Given the description of an element on the screen output the (x, y) to click on. 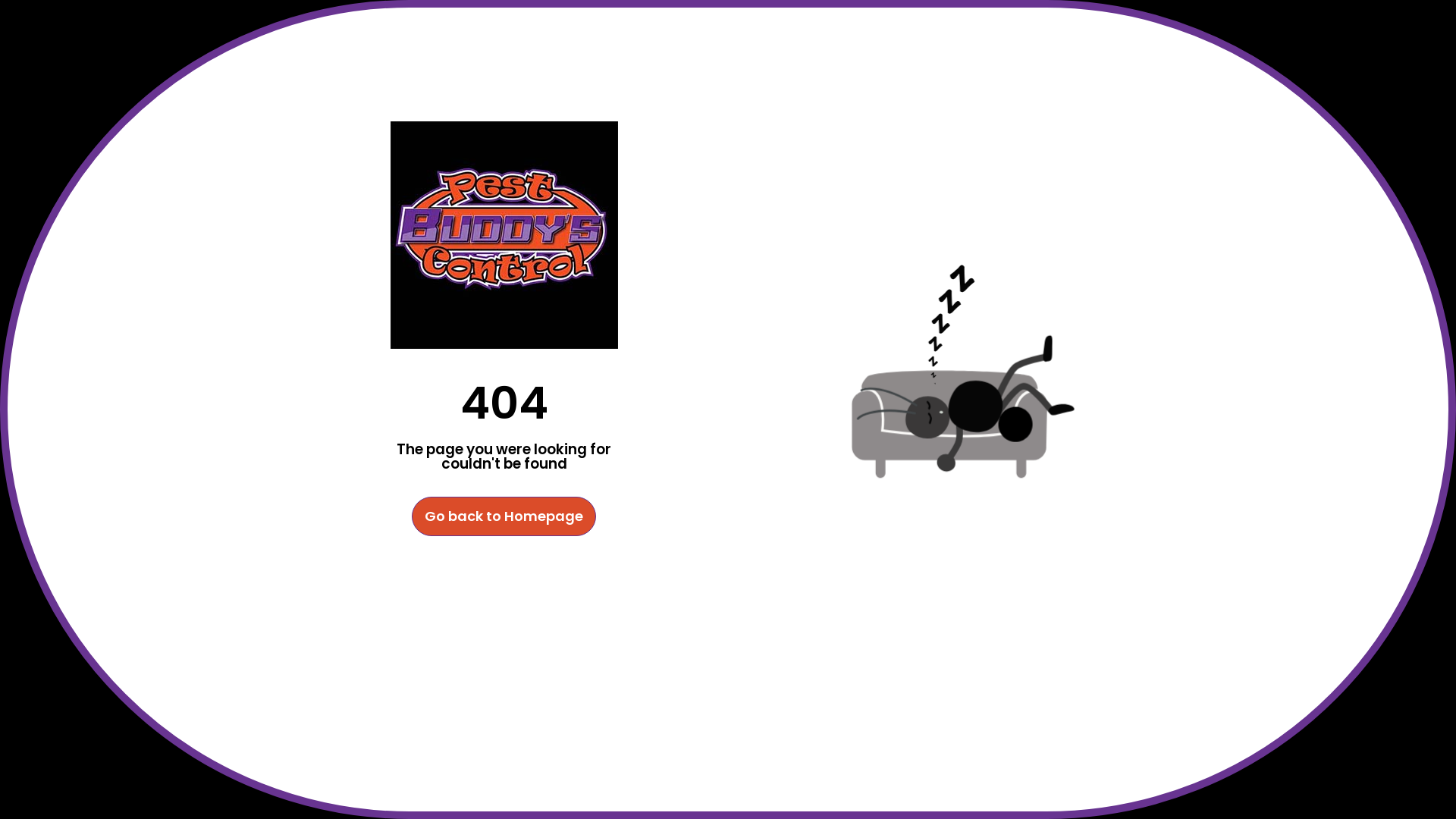
Go back to Homepage Element type: text (503, 516)
